Given the description of an element on the screen output the (x, y) to click on. 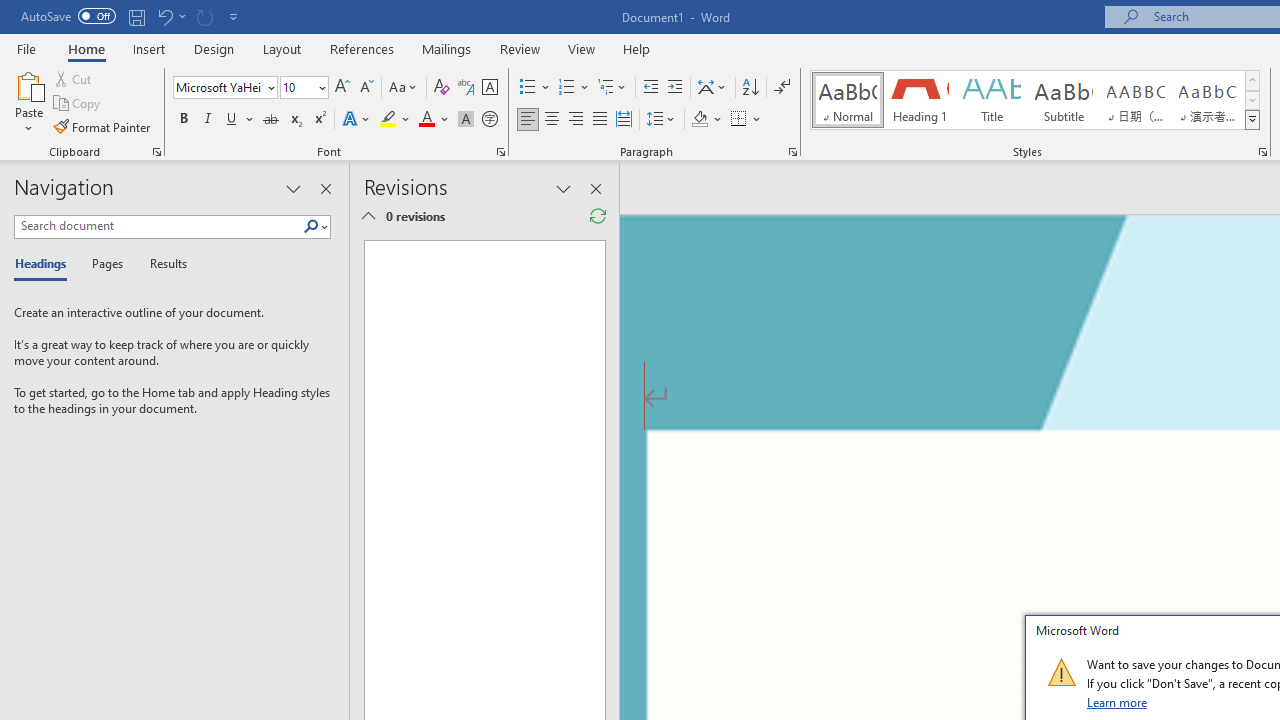
Shrink Font (365, 87)
Font Color Red (426, 119)
Styles... (1262, 151)
Italic (207, 119)
Distributed (623, 119)
Title (991, 100)
References (362, 48)
System (10, 11)
Task Pane Options (293, 188)
Shading (706, 119)
Show/Hide Editing Marks (781, 87)
Sort... (750, 87)
Bold (183, 119)
Font Size (297, 87)
